Given the description of an element on the screen output the (x, y) to click on. 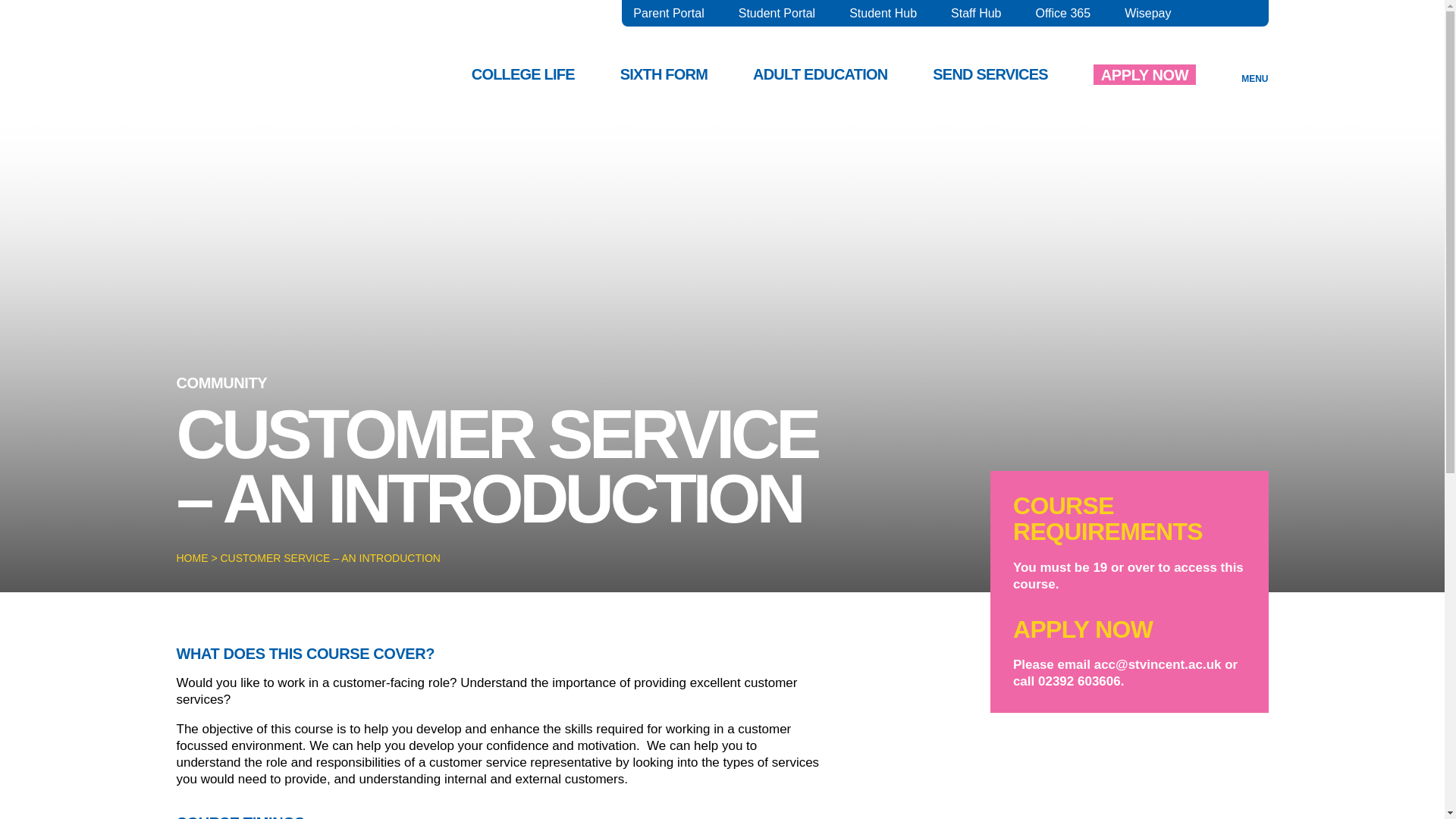
Logo (264, 80)
Staff Hub (975, 13)
Office 365 (1062, 13)
Logo (264, 57)
Student Portal (776, 13)
Wisepay (1147, 13)
Student Hub (882, 13)
Parent Portal (668, 13)
St Vincent College (264, 80)
